Given the description of an element on the screen output the (x, y) to click on. 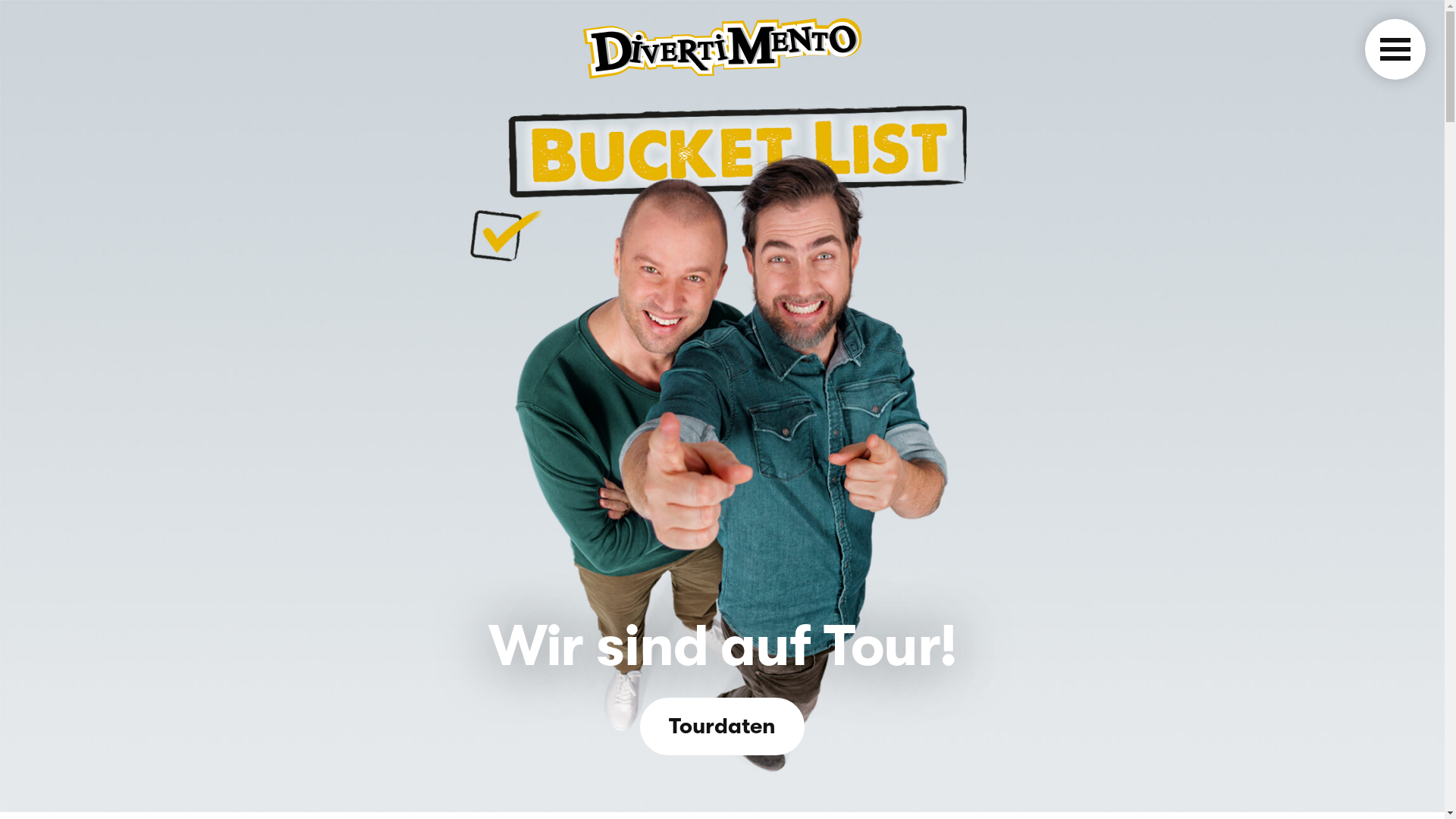
Tourdaten Element type: text (721, 726)
